Given the description of an element on the screen output the (x, y) to click on. 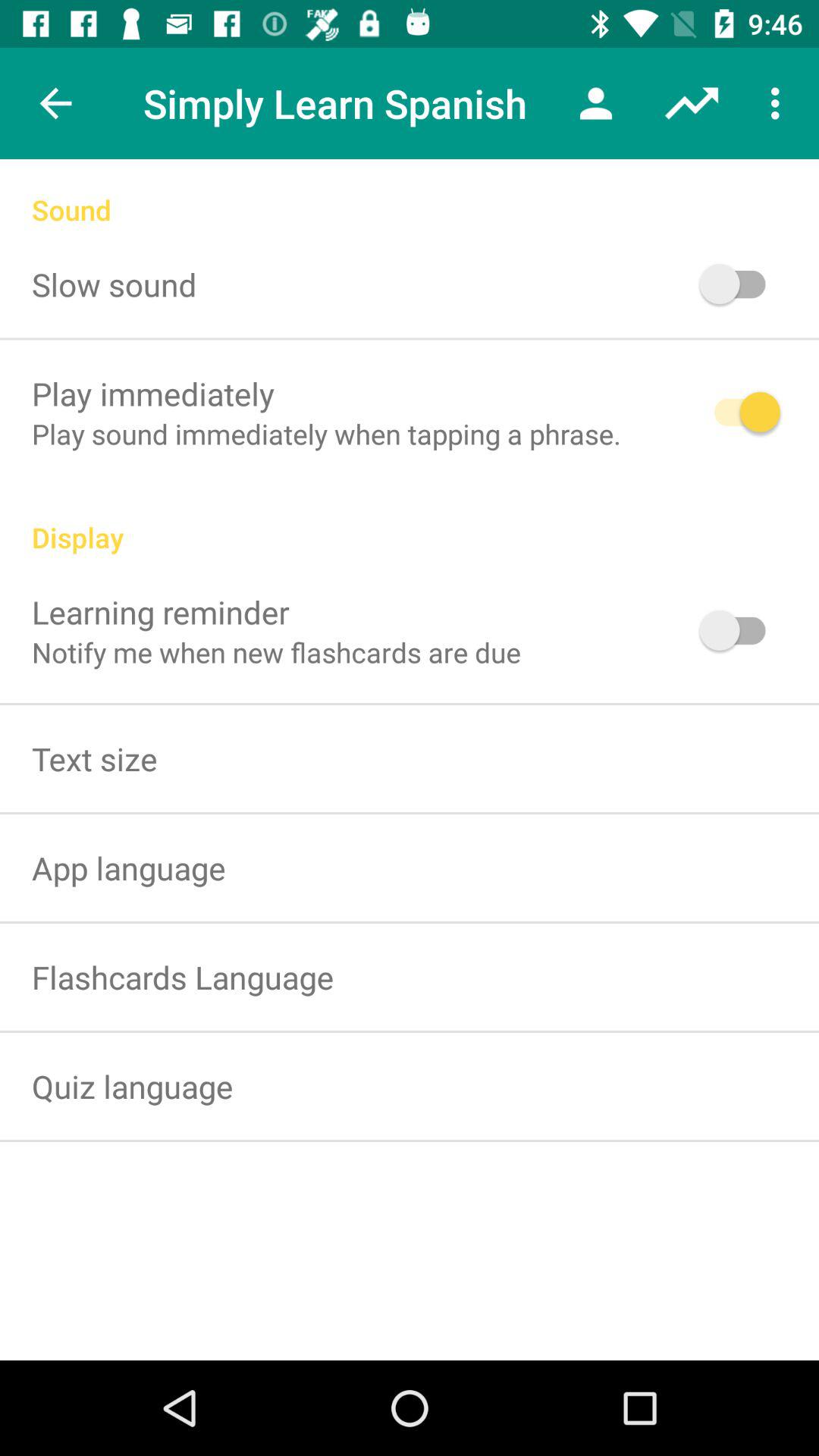
jump until notify me when icon (275, 652)
